Given the description of an element on the screen output the (x, y) to click on. 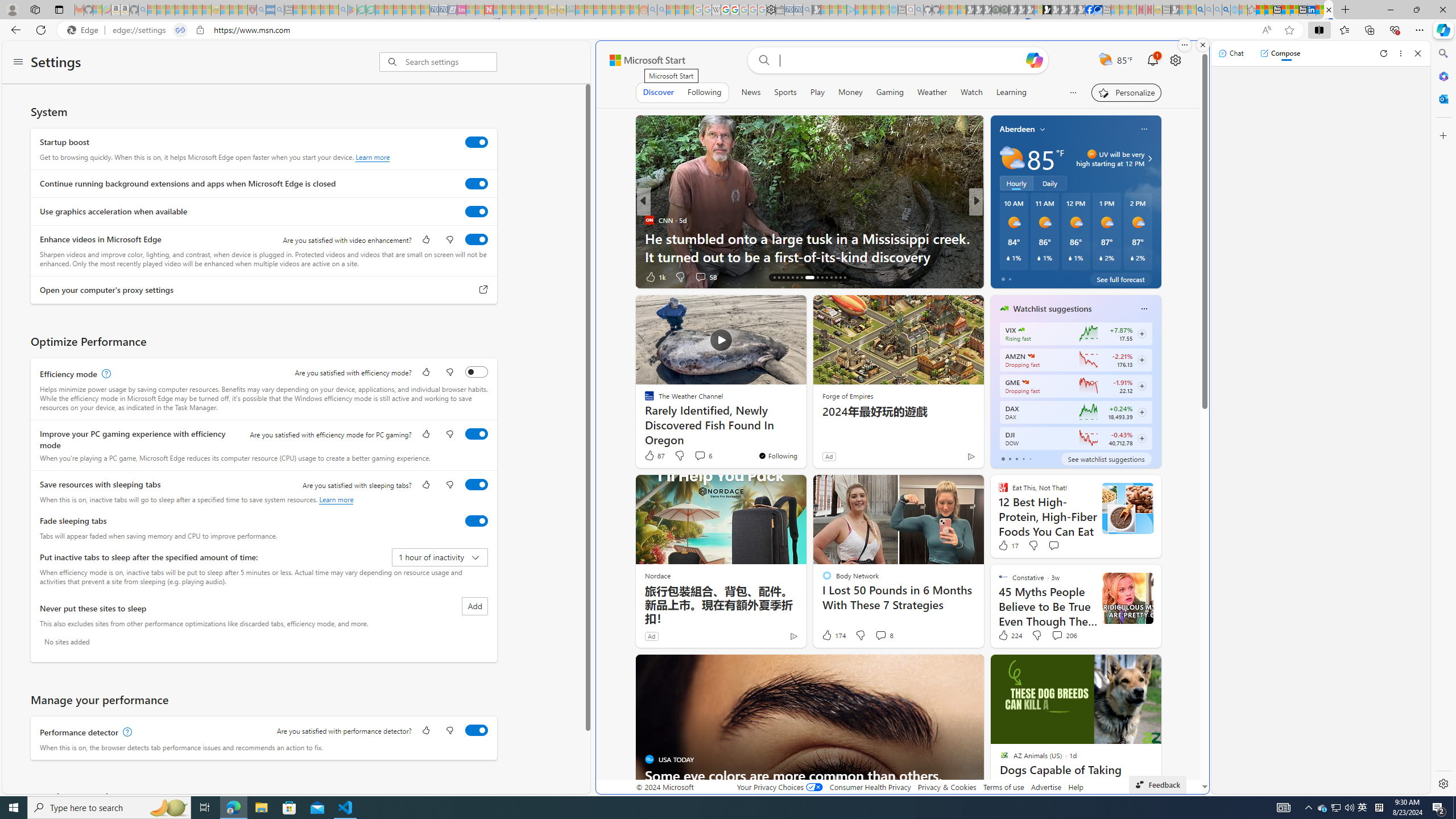
tab-1 (1009, 458)
Metro (999, 238)
Favorites - Sleeping (1251, 9)
View comments 8 Comment (880, 635)
Daily (1049, 183)
NCL Adult Asthma Inhaler Choice Guideline - Sleeping (269, 9)
ScienceAlert (649, 219)
View comments 5 Comment (1054, 276)
14 Common Myths Debunked By Scientific Facts - Sleeping (506, 9)
